Given the description of an element on the screen output the (x, y) to click on. 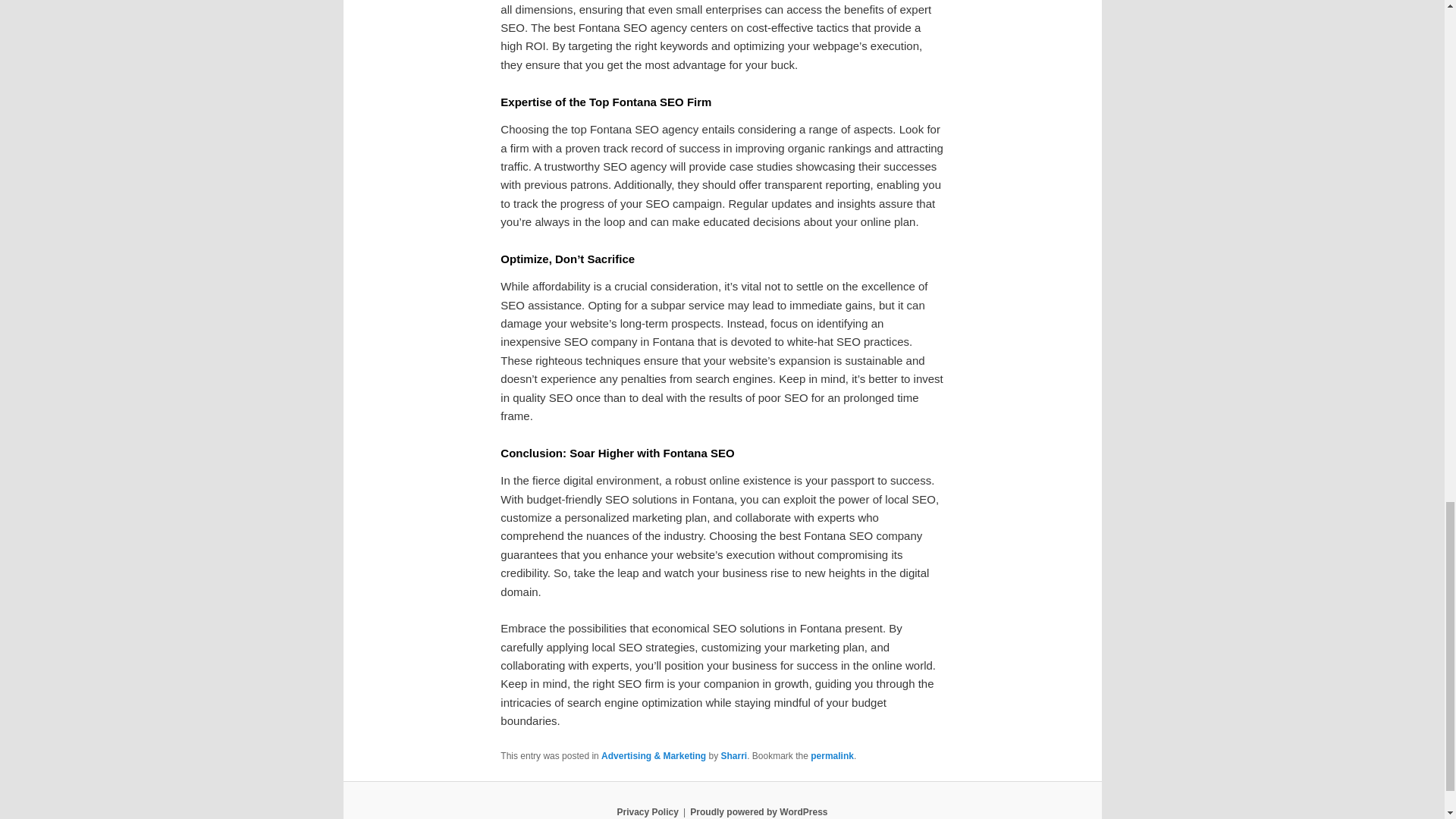
Privacy Policy (646, 811)
Sharri (733, 756)
Permalink to The Essence and Evolution of SEO Fontana CA (831, 756)
permalink (831, 756)
Semantic Personal Publishing Platform (758, 811)
Proudly powered by WordPress (758, 811)
